Given the description of an element on the screen output the (x, y) to click on. 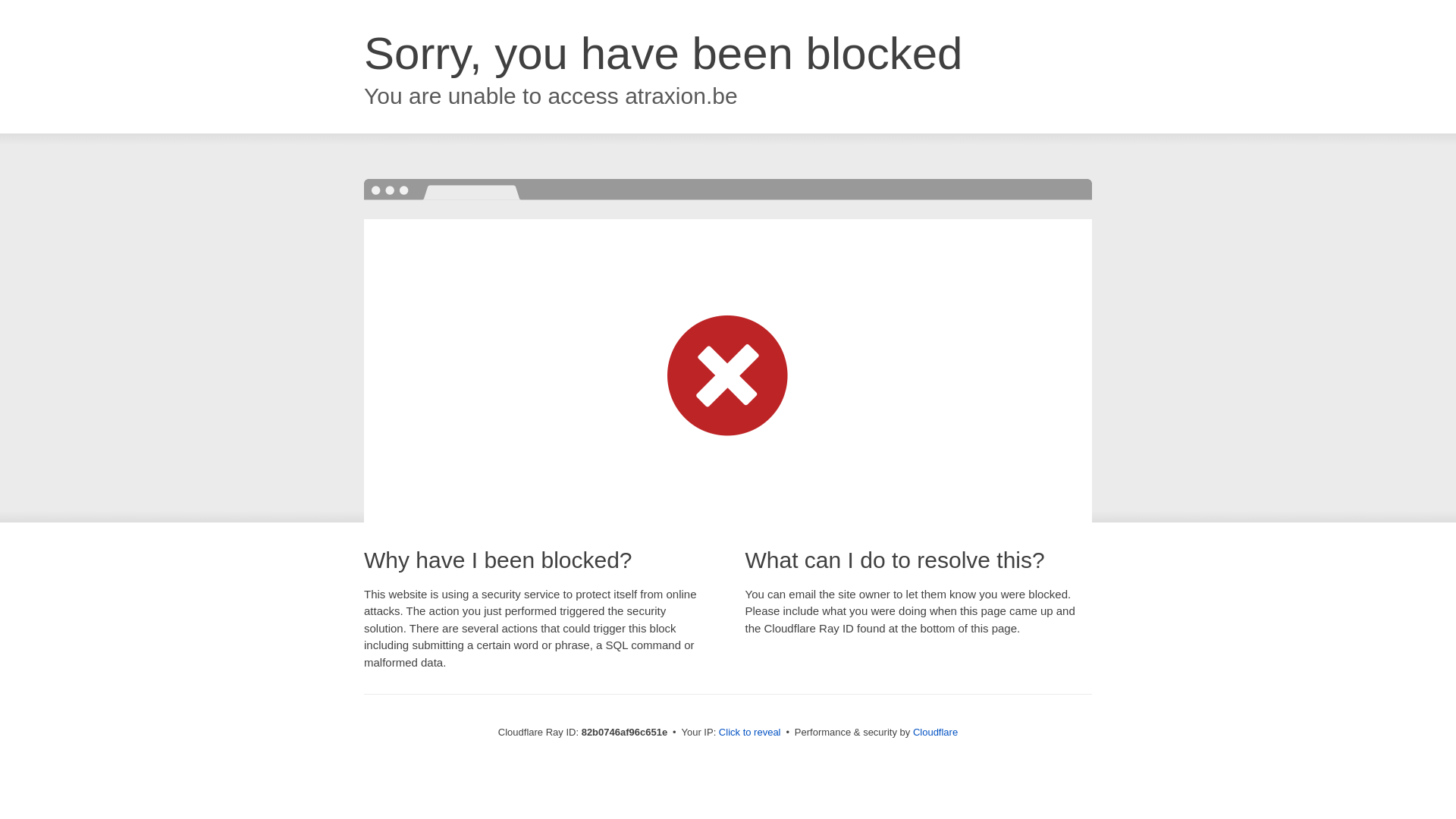
Click to reveal Element type: text (749, 732)
Cloudflare Element type: text (935, 731)
